Given the description of an element on the screen output the (x, y) to click on. 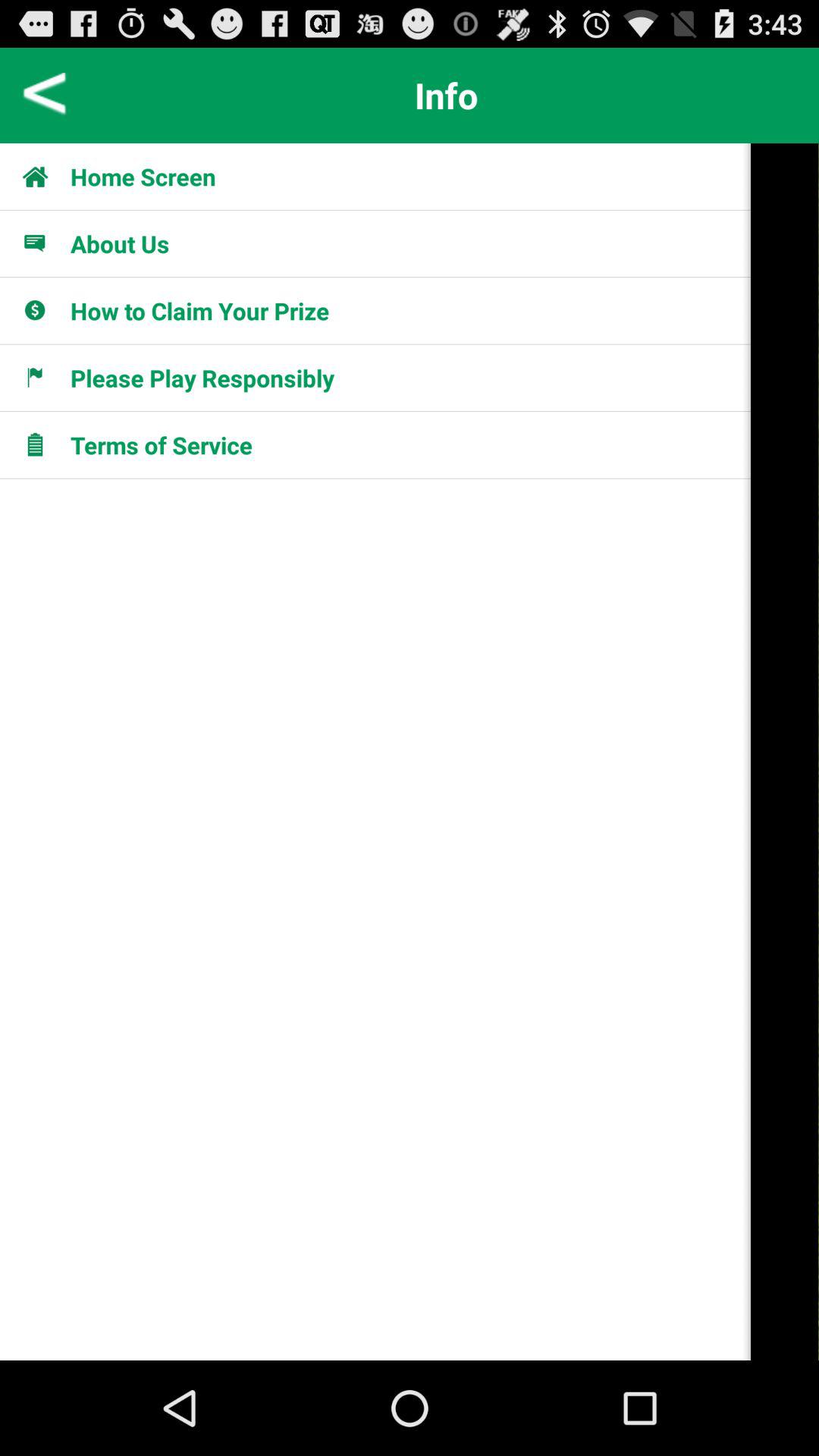
scroll until the home screen app (143, 176)
